Given the description of an element on the screen output the (x, y) to click on. 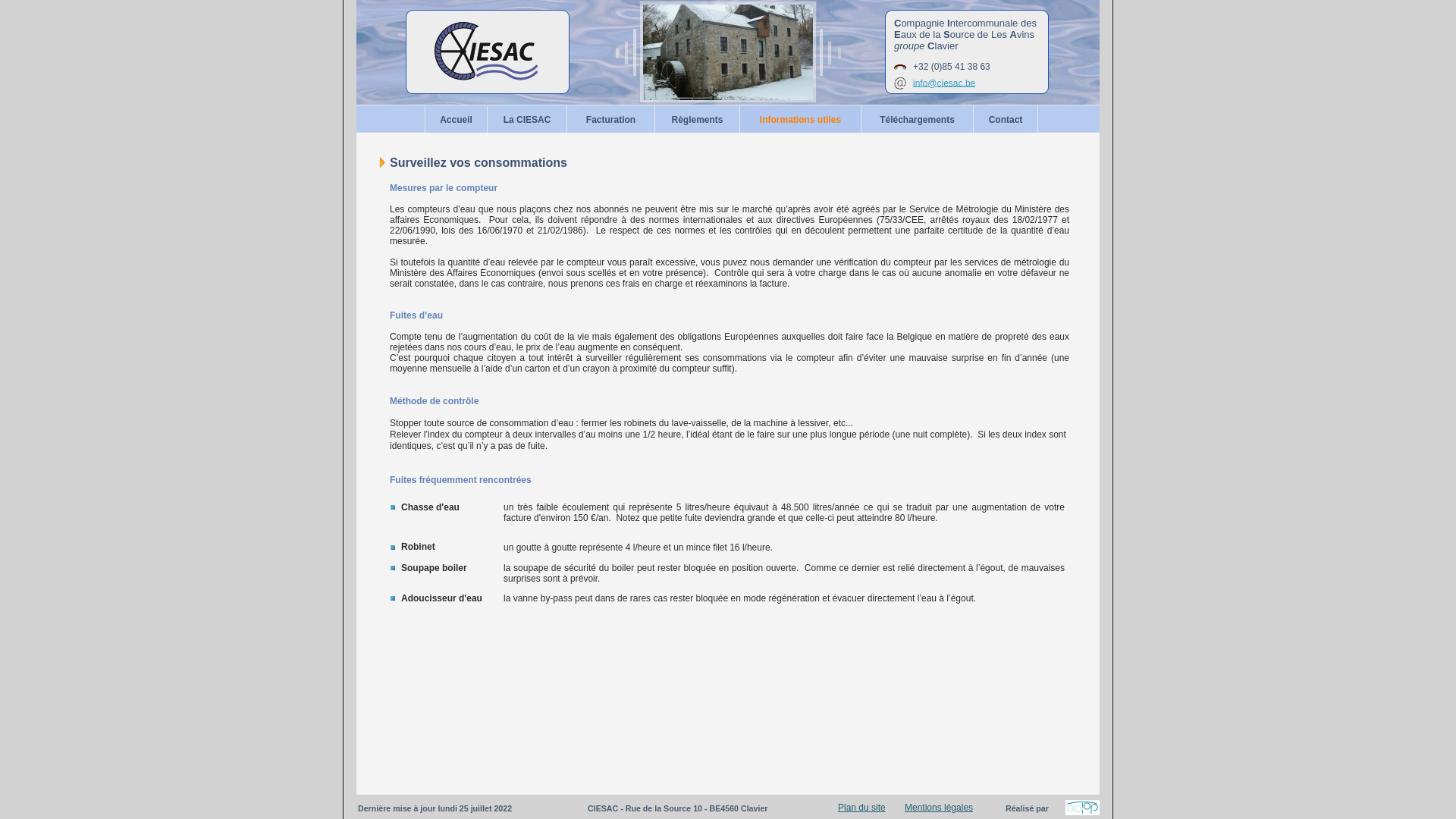
Facturation Element type: text (610, 118)
La CIESAC Element type: text (527, 118)
info@ciesac.be Element type: text (944, 82)
Informations utiles Element type: text (799, 118)
Plan du site Element type: text (861, 807)
Photos du territoire desservi par la CIESAC Element type: hover (727, 52)
CIESAC Element type: hover (488, 51)
Historique Element type: hover (381, 161)
Accueil Element type: text (455, 118)
Contact Element type: text (1005, 118)
